Given the description of an element on the screen output the (x, y) to click on. 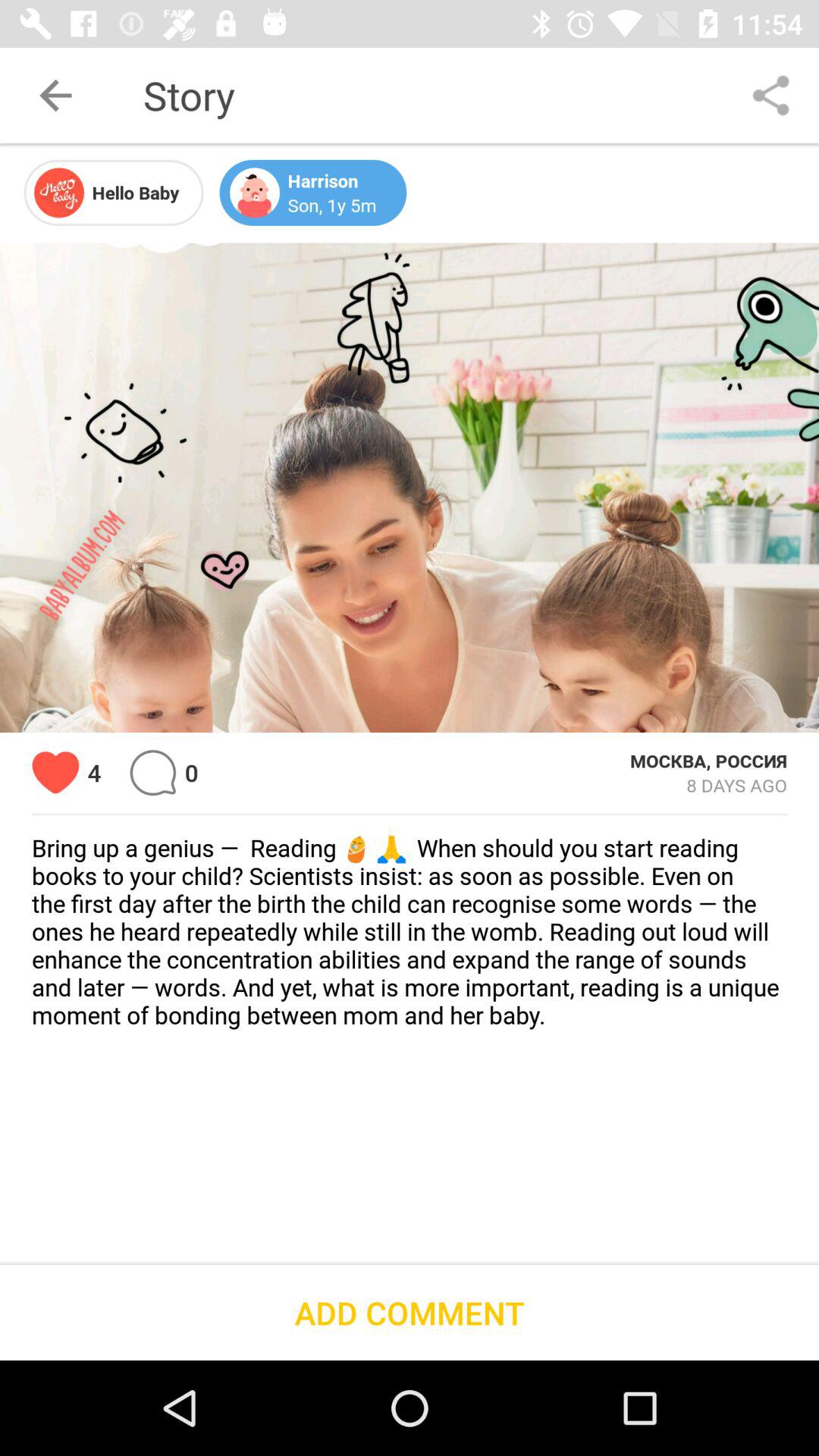
turn off icon next to the 0 icon (152, 772)
